Given the description of an element on the screen output the (x, y) to click on. 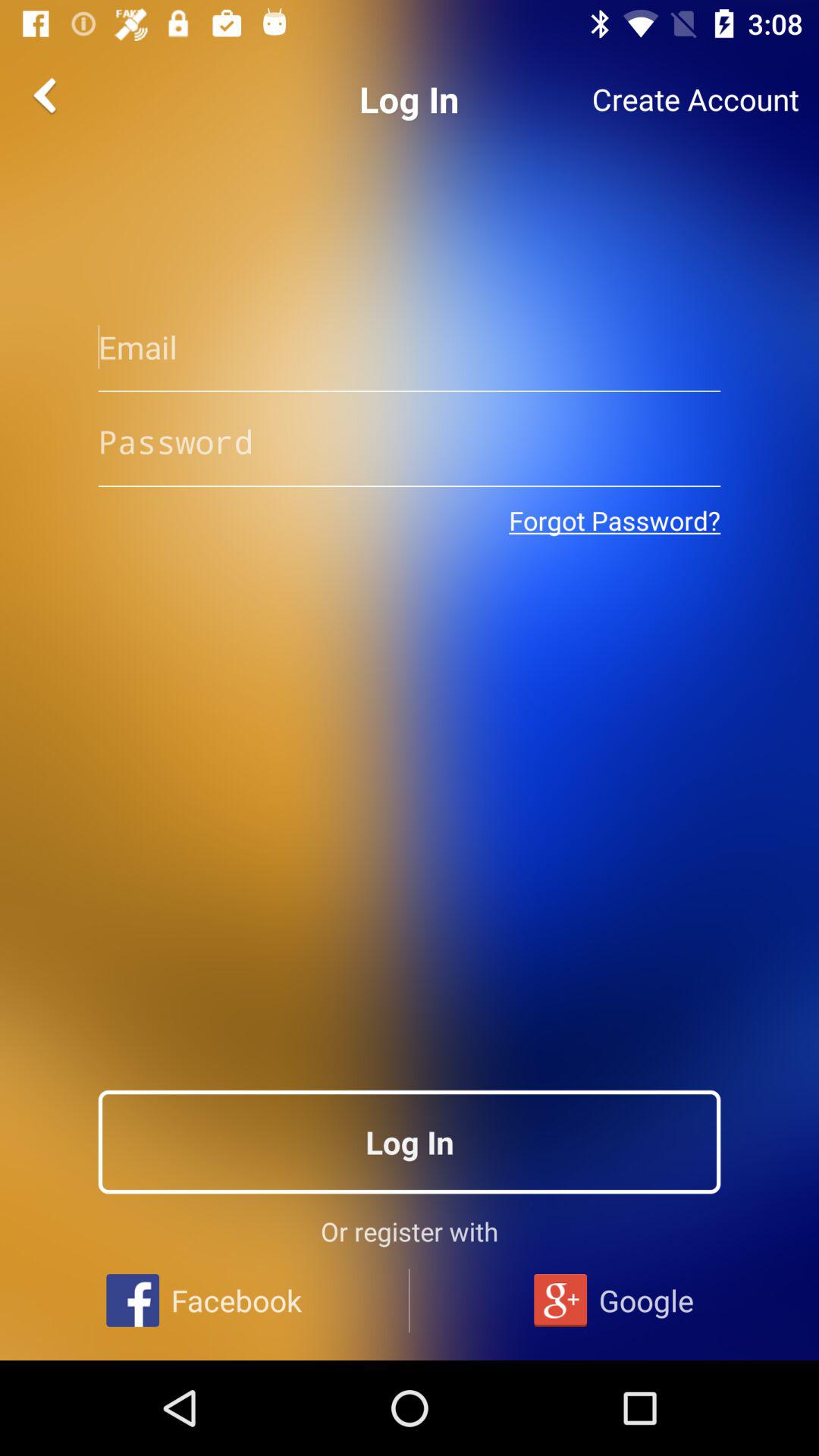
press item at the top left corner (47, 95)
